Given the description of an element on the screen output the (x, y) to click on. 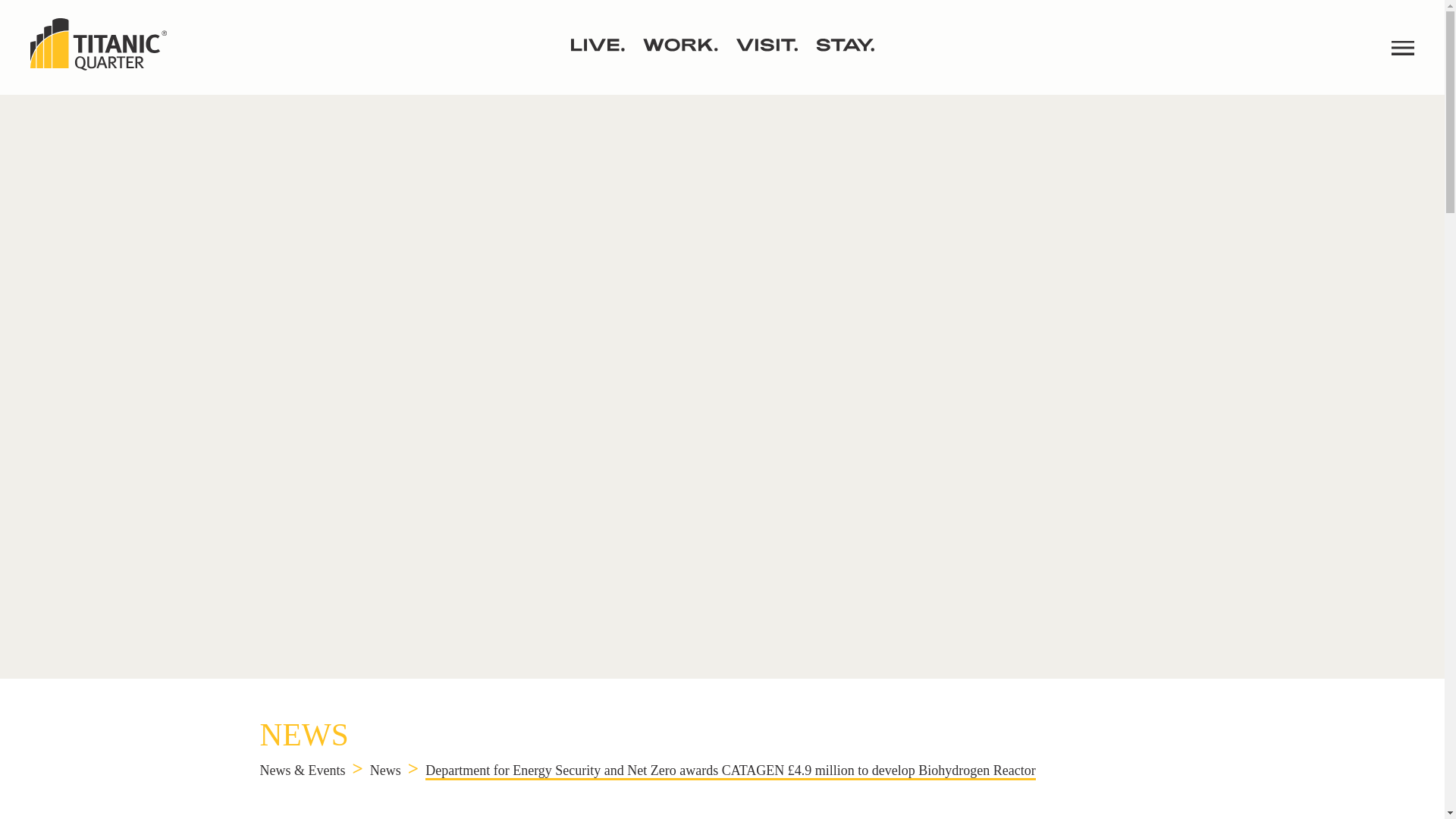
live-work-play-stay (721, 44)
live-work-play-stay (721, 46)
News (385, 770)
titanic-quarter-logo (98, 47)
titanic-quarter-logo (98, 44)
